Given the description of an element on the screen output the (x, y) to click on. 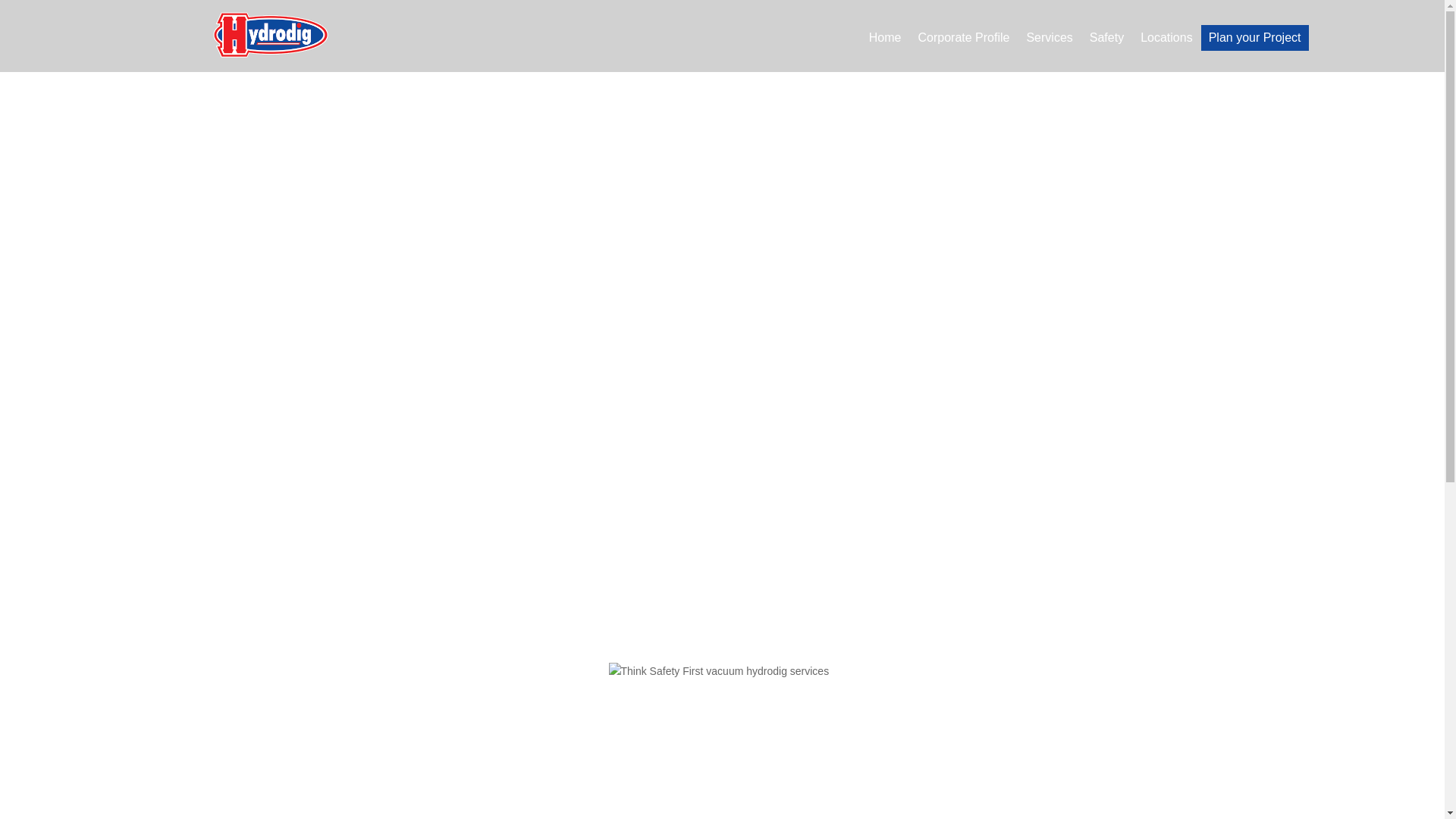
Safety (1106, 41)
HYDRODIG-LOGO (270, 34)
Home (885, 41)
Plan your Project (1254, 37)
Locations (1166, 41)
Corporate Profile (963, 41)
Services (1048, 41)
